Given the description of an element on the screen output the (x, y) to click on. 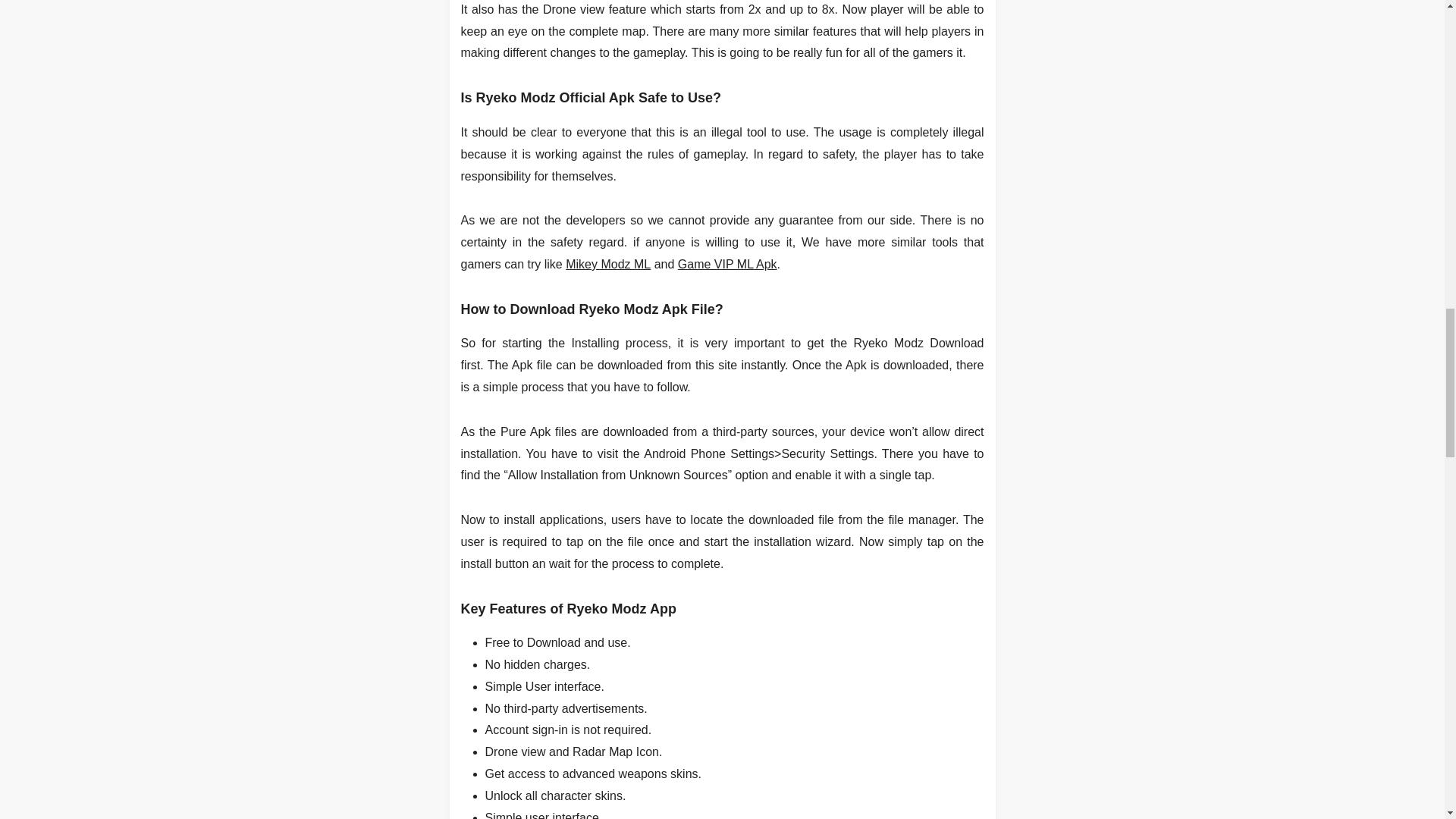
Game VIP ML Apk (727, 264)
Mikey Modz ML (608, 264)
